Given the description of an element on the screen output the (x, y) to click on. 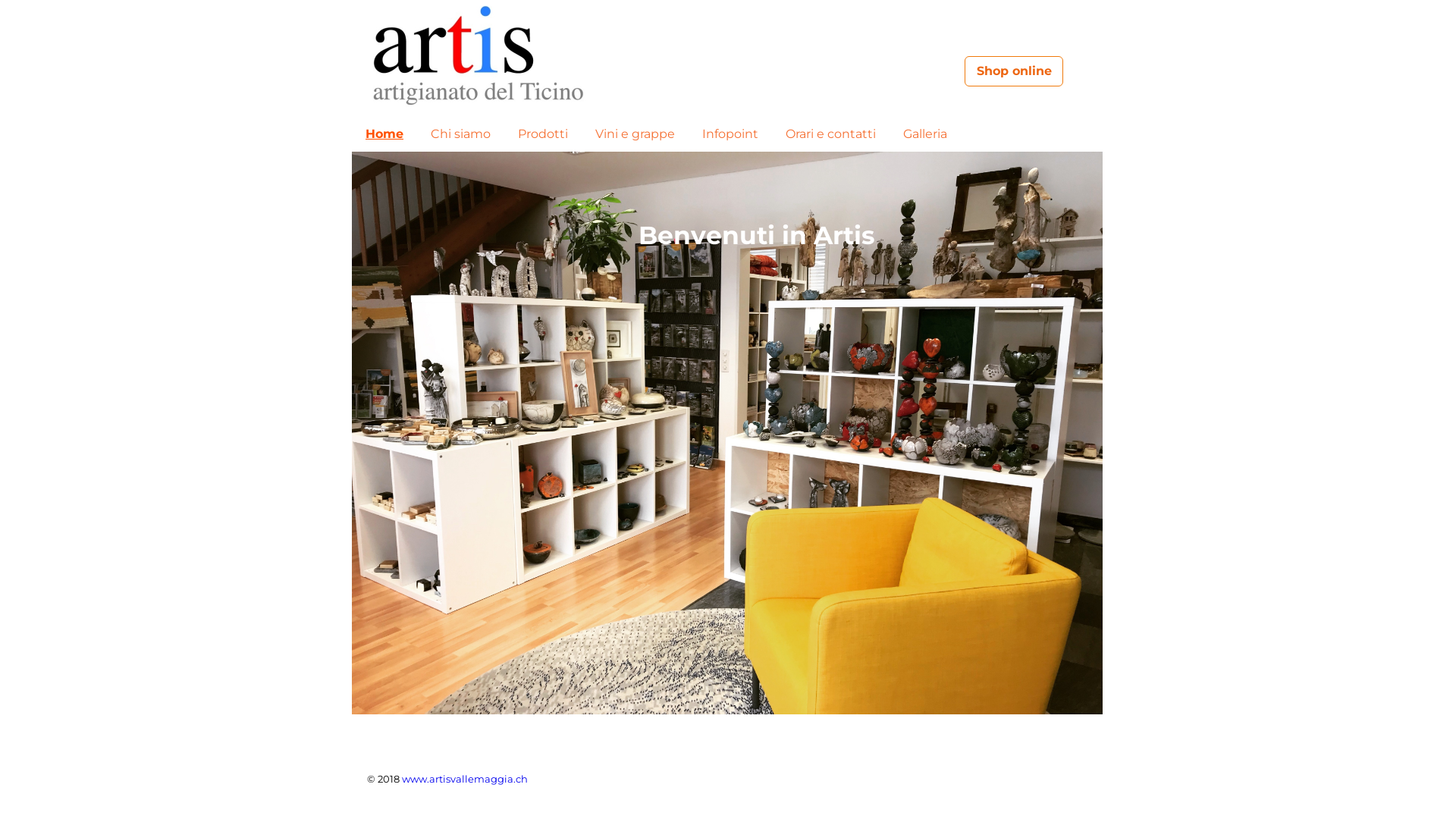
Home Element type: text (384, 133)
Prodotti Element type: text (542, 133)
Infopoint Element type: text (730, 133)
www.artisvallemaggia.ch Element type: text (464, 778)
Shop online Element type: text (1013, 71)
Vini e grappe Element type: text (634, 133)
Galleria Element type: text (924, 133)
Orari e contatti Element type: text (830, 133)
Chi siamo Element type: text (460, 133)
